Given the description of an element on the screen output the (x, y) to click on. 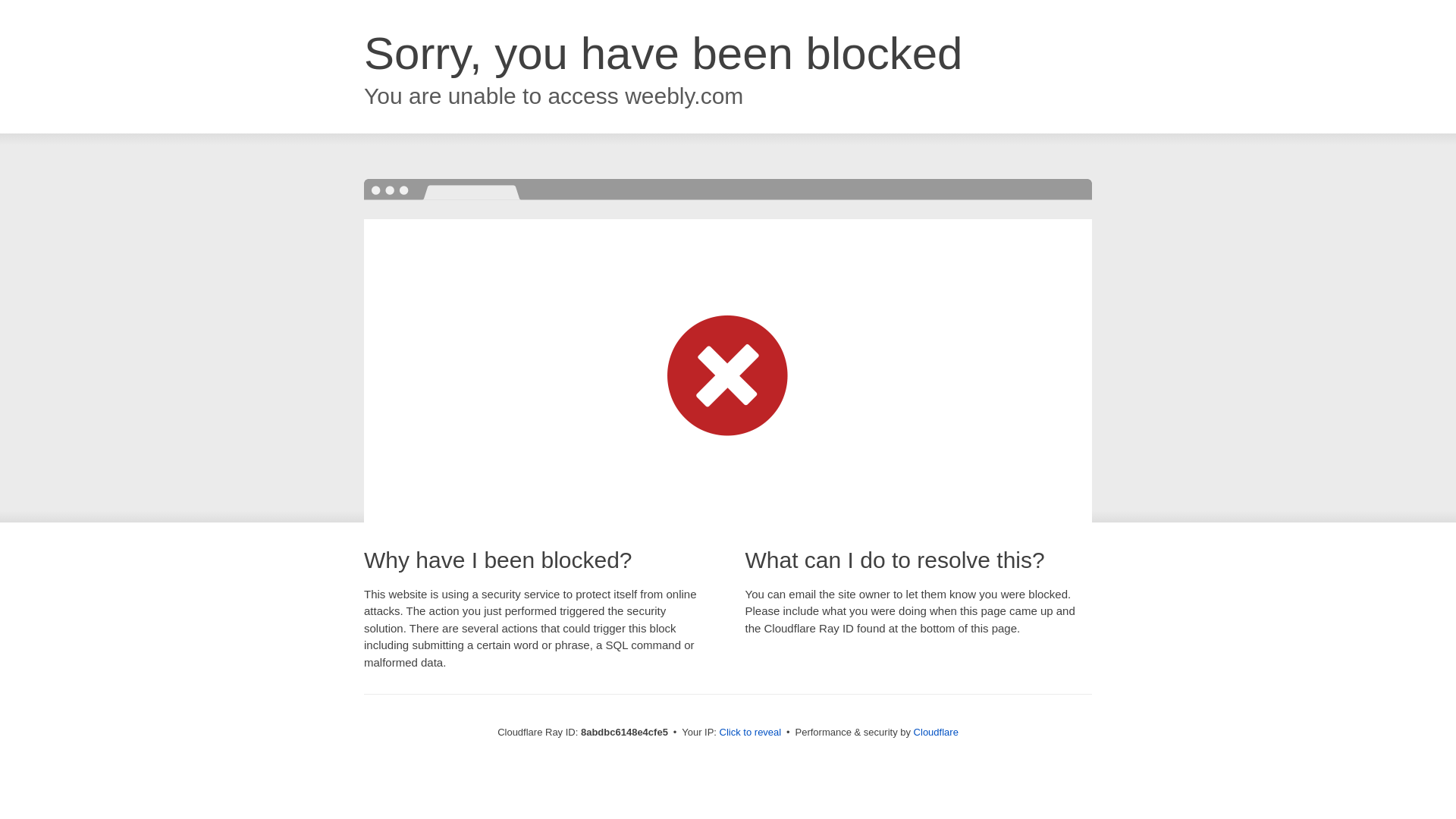
Cloudflare (936, 731)
Click to reveal (750, 732)
